Given the description of an element on the screen output the (x, y) to click on. 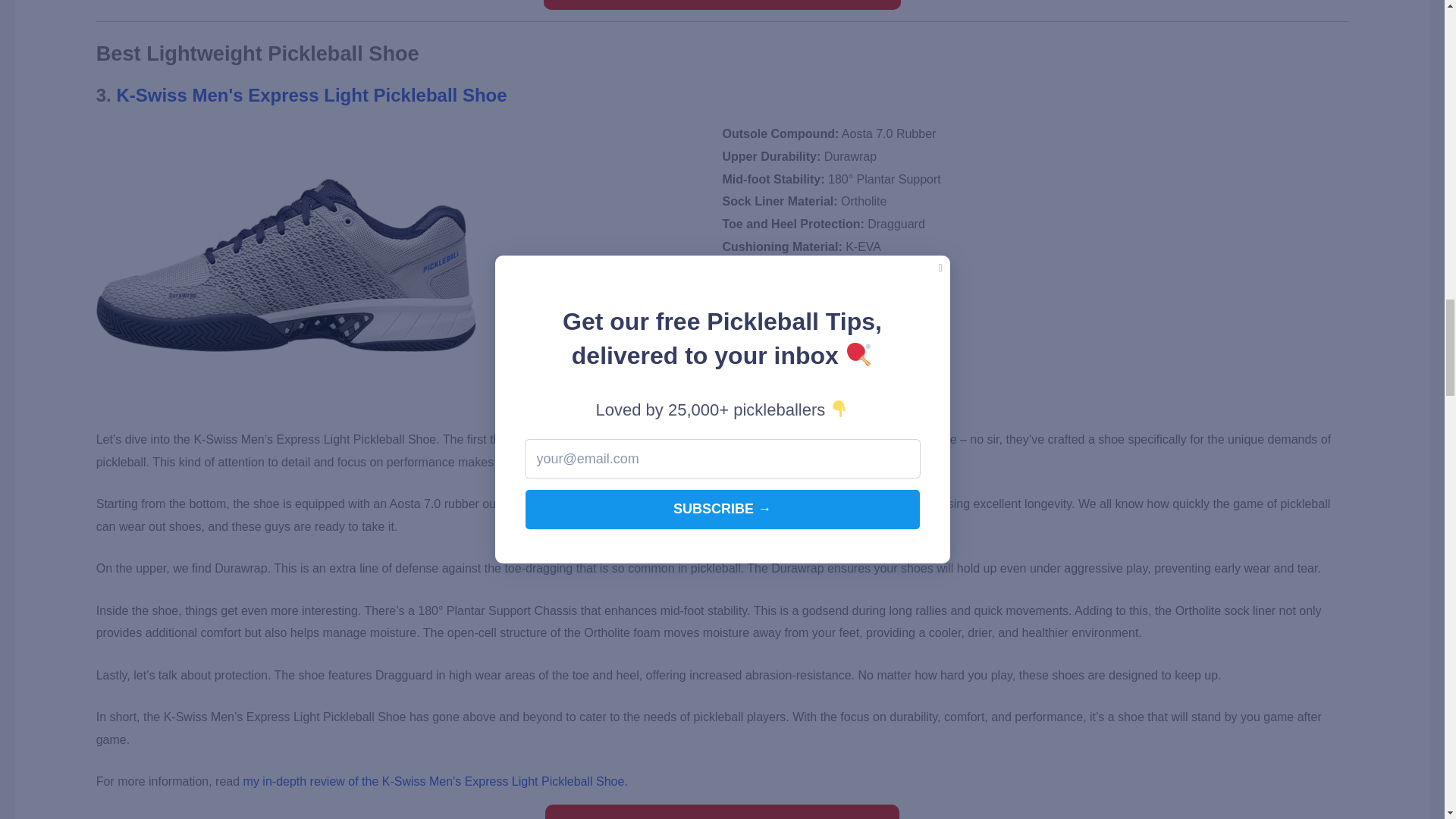
K-Swiss Men's Express Light Pickleball Shoe (311, 95)
See the K-Swiss Men's Express Light Pickleball Shoe (721, 811)
See the K-Swiss Men's Express Light Pickleball Shoe (721, 811)
See the ASICS Women's Gel-RENMA Pickleball Shoe (721, 4)
K-Swiss Men's Express Light Pickleball Shoe (311, 95)
See the ASICS Women's Gel-RENMA Pickleball Shoe (721, 4)
